Given the description of an element on the screen output the (x, y) to click on. 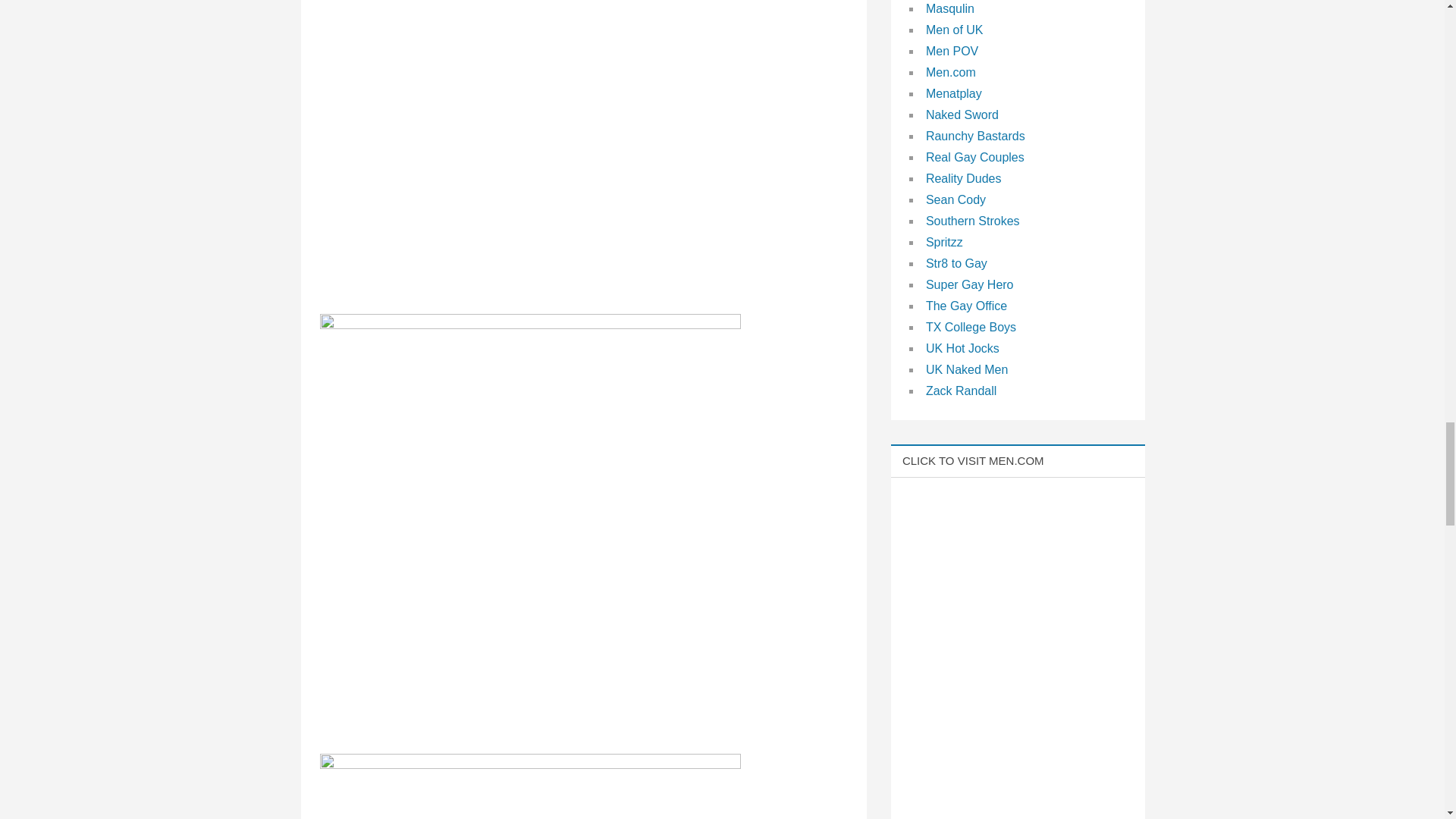
Southern Strokes: Haigan and Cole (530, 786)
Southern Strokes: Haigan and Cole (530, 147)
